Given the description of an element on the screen output the (x, y) to click on. 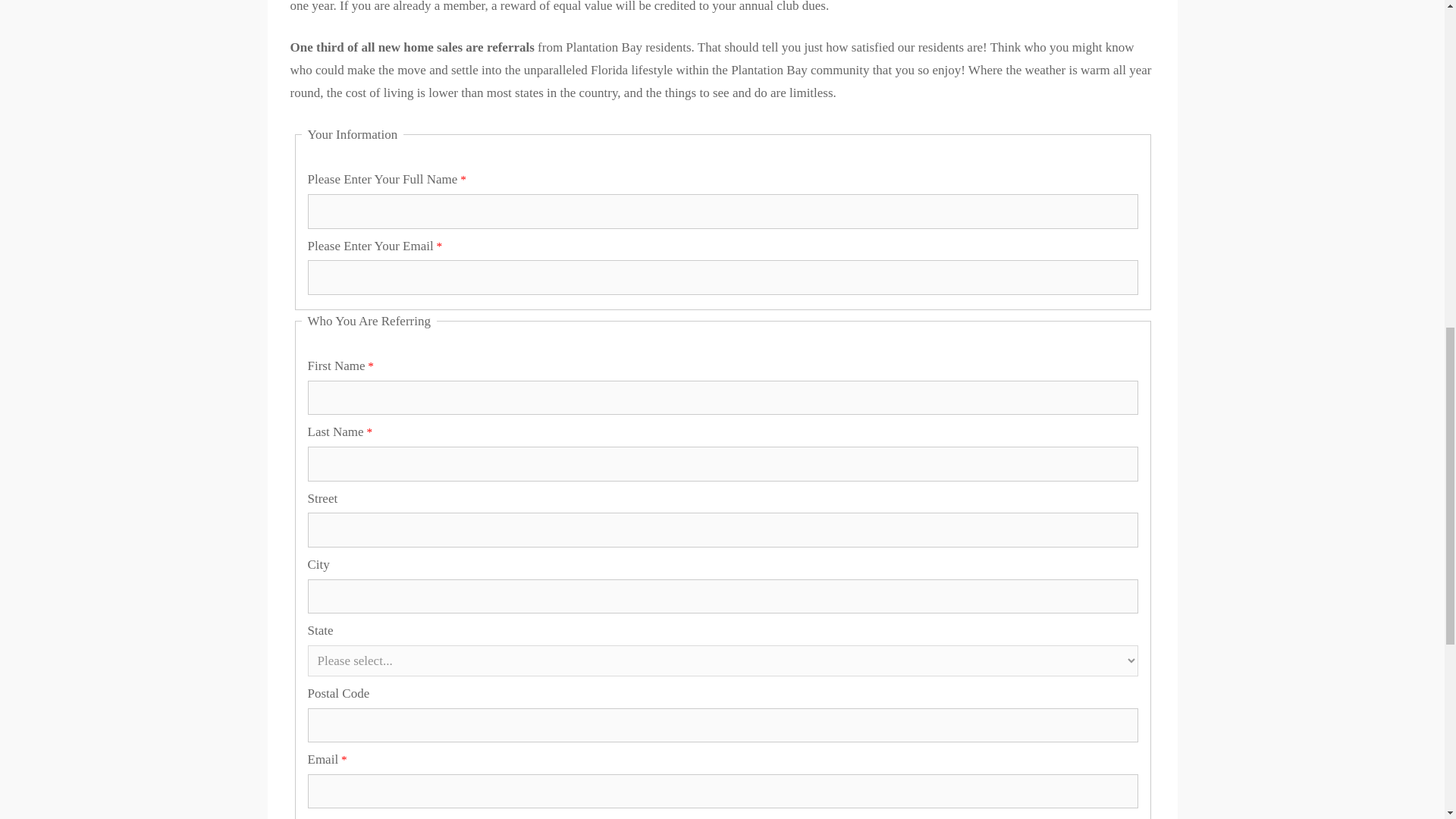
Last Name (722, 463)
Please Enter Your Full Name (722, 211)
First Name (722, 397)
Please Enter Your Email (722, 277)
Street (722, 529)
